Given the description of an element on the screen output the (x, y) to click on. 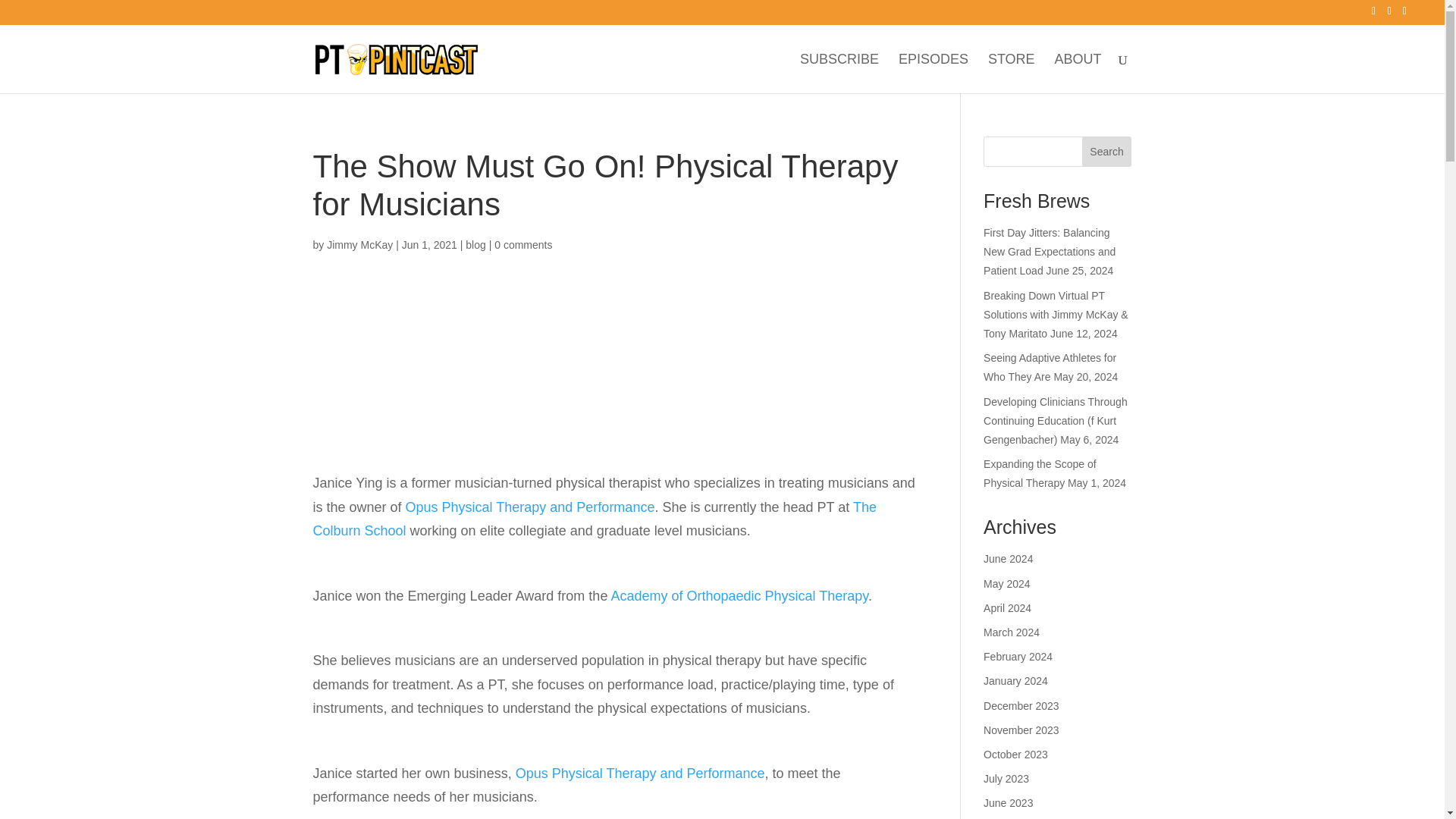
Search (1106, 151)
0 comments (523, 244)
Opus Physical Therapy and Performance (640, 773)
January 2024 (1016, 680)
October 2023 (1016, 754)
Seeing Adaptive Athletes for Who They Are (1050, 367)
May 2024 (1006, 583)
Jimmy McKay (359, 244)
Opus Physical Therapy and Performance (530, 507)
February 2024 (1018, 656)
blog (474, 244)
December 2023 (1021, 705)
June 2024 (1008, 558)
March 2024 (1011, 632)
